Given the description of an element on the screen output the (x, y) to click on. 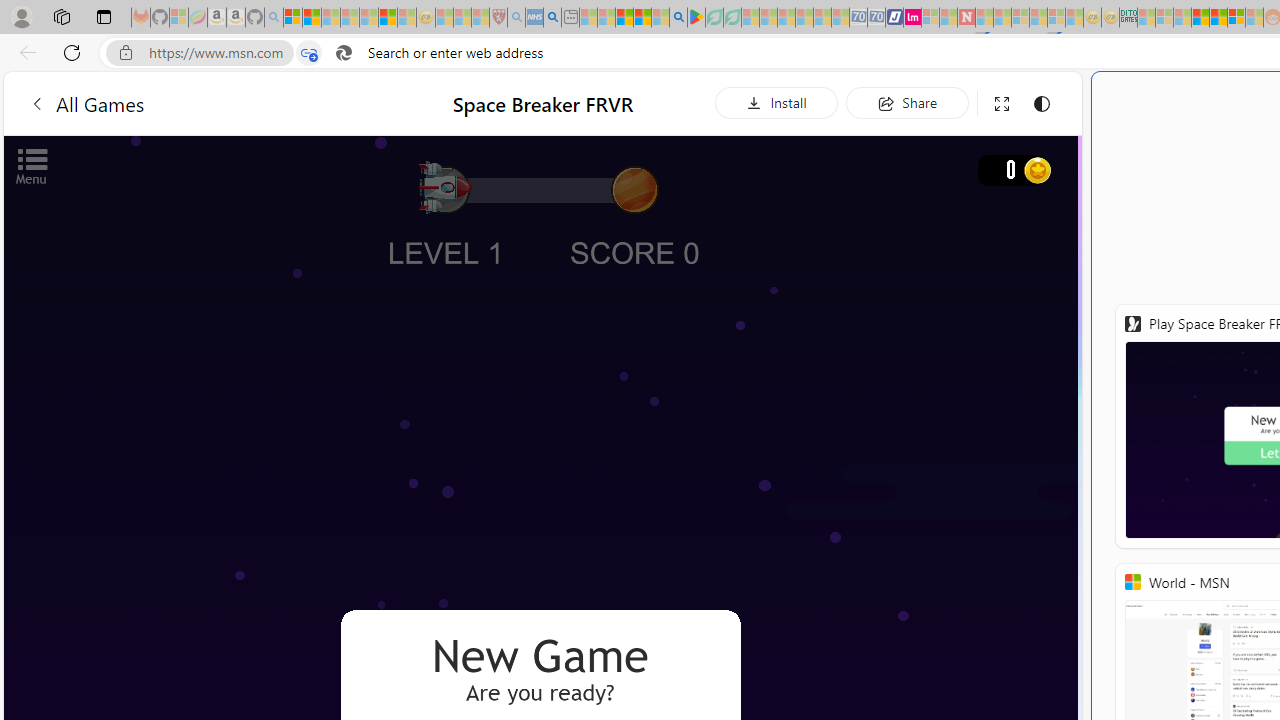
Jobs - lastminute.com Investor Portal (912, 17)
Tabs in split screen (308, 53)
utah sues federal government - Search (552, 17)
All Games (86, 102)
